Given the description of an element on the screen output the (x, y) to click on. 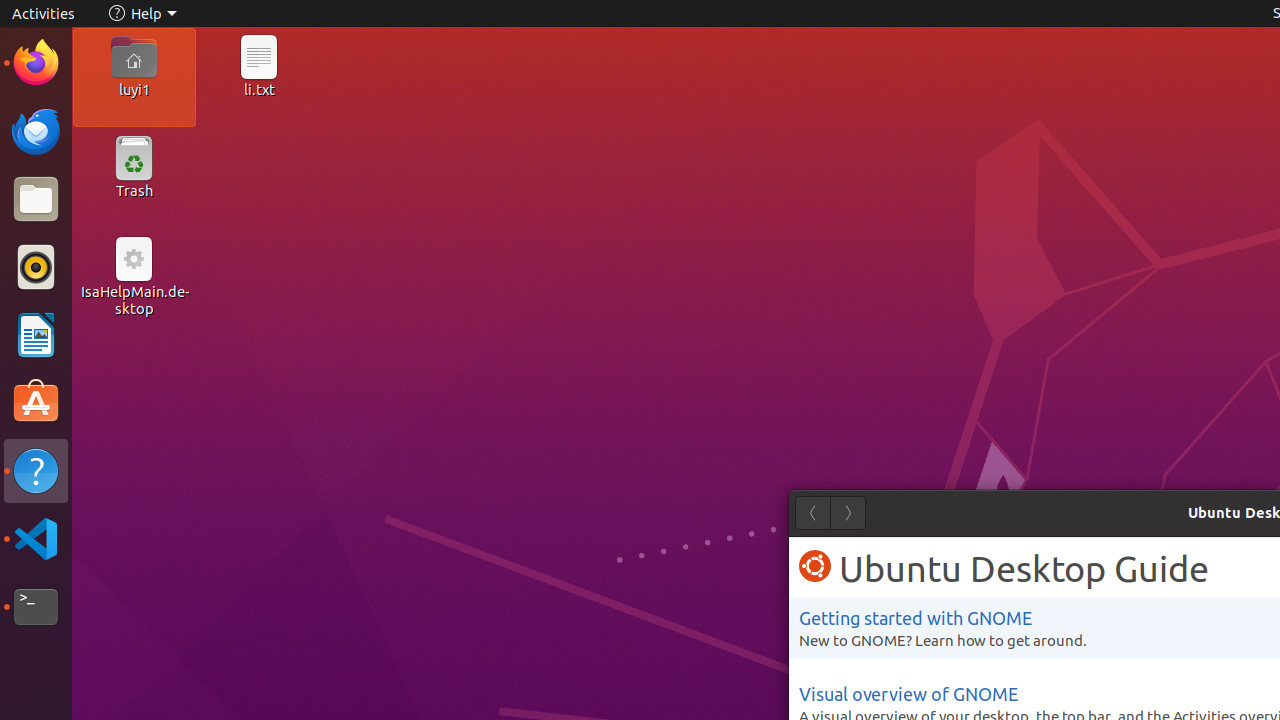
Terminal Element type: push-button (36, 607)
